Given the description of an element on the screen output the (x, y) to click on. 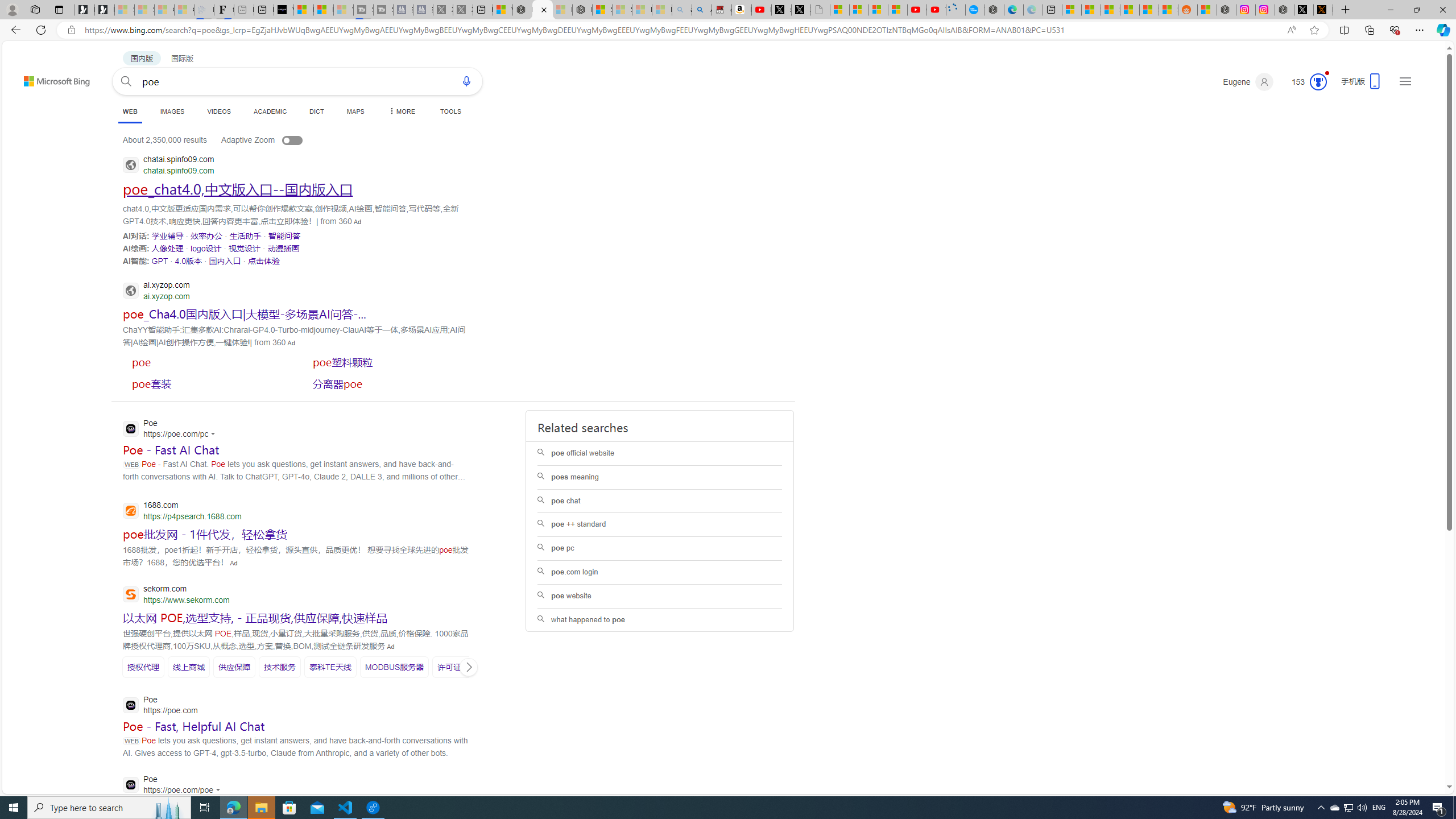
poe official website (659, 453)
App bar (728, 29)
New tab - Sleeping (243, 9)
DICT (316, 111)
poes meaning (659, 477)
SERP,5598 (279, 666)
Amazon Echo Dot PNG - Search Images (701, 9)
Nordace - Nordace has arrived Hong Kong (994, 9)
MAPS (355, 111)
Adaptive Zoom (274, 139)
Actions for this site (218, 790)
poe ++ standard (659, 524)
poe (205, 362)
